Given the description of an element on the screen output the (x, y) to click on. 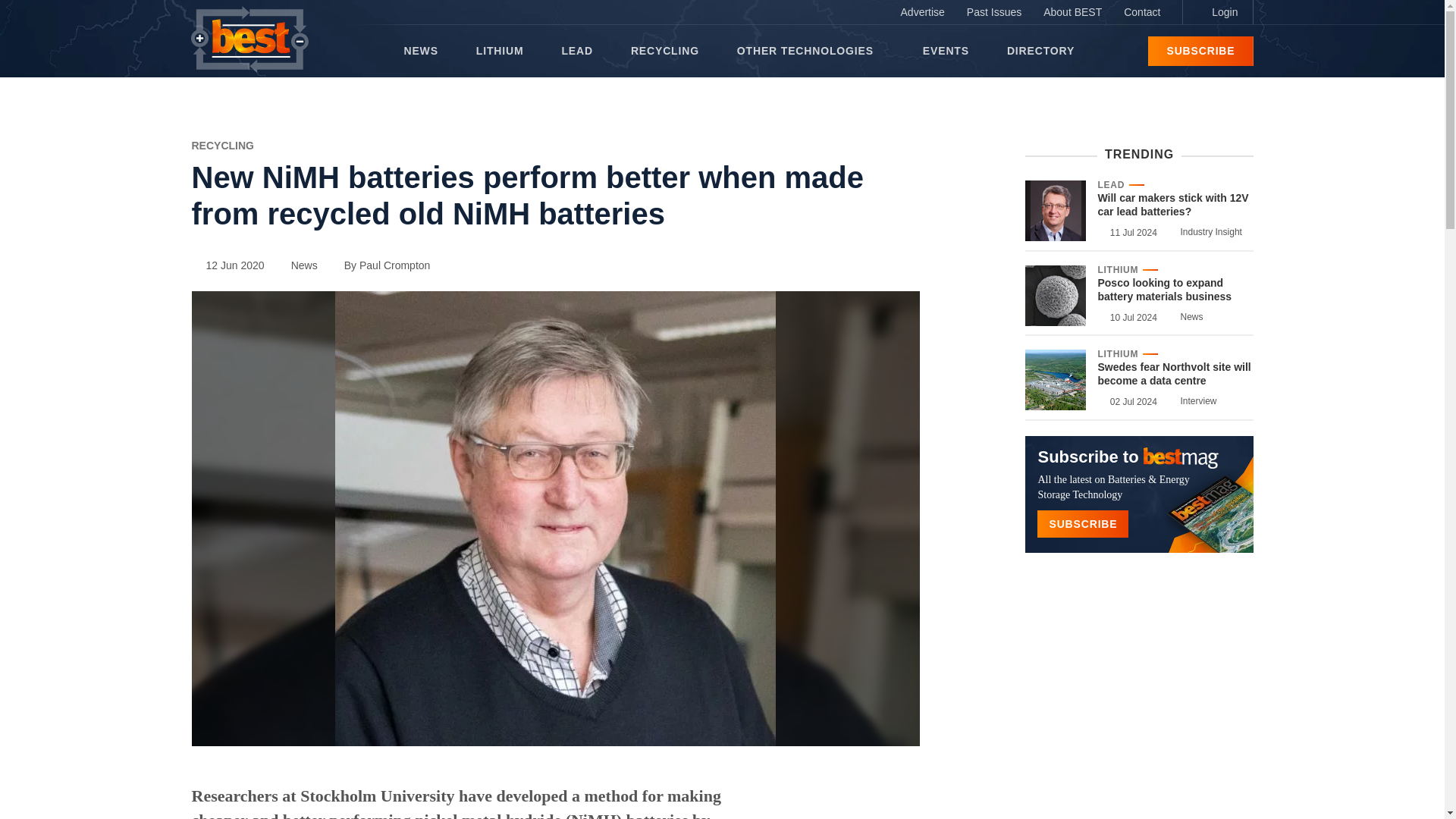
LITHIUM (499, 50)
Past Issues (994, 12)
DIRECTORY (1039, 50)
By Paul Crompton (380, 265)
Login (1217, 12)
Advertise (922, 12)
NEWS (420, 50)
RECYCLING (664, 50)
EVENTS (945, 50)
Contact (1141, 12)
About BEST (1072, 12)
News (296, 265)
RECYCLING (221, 145)
SUBSCRIBE (1200, 51)
OTHER TECHNOLOGIES (810, 50)
